Given the description of an element on the screen output the (x, y) to click on. 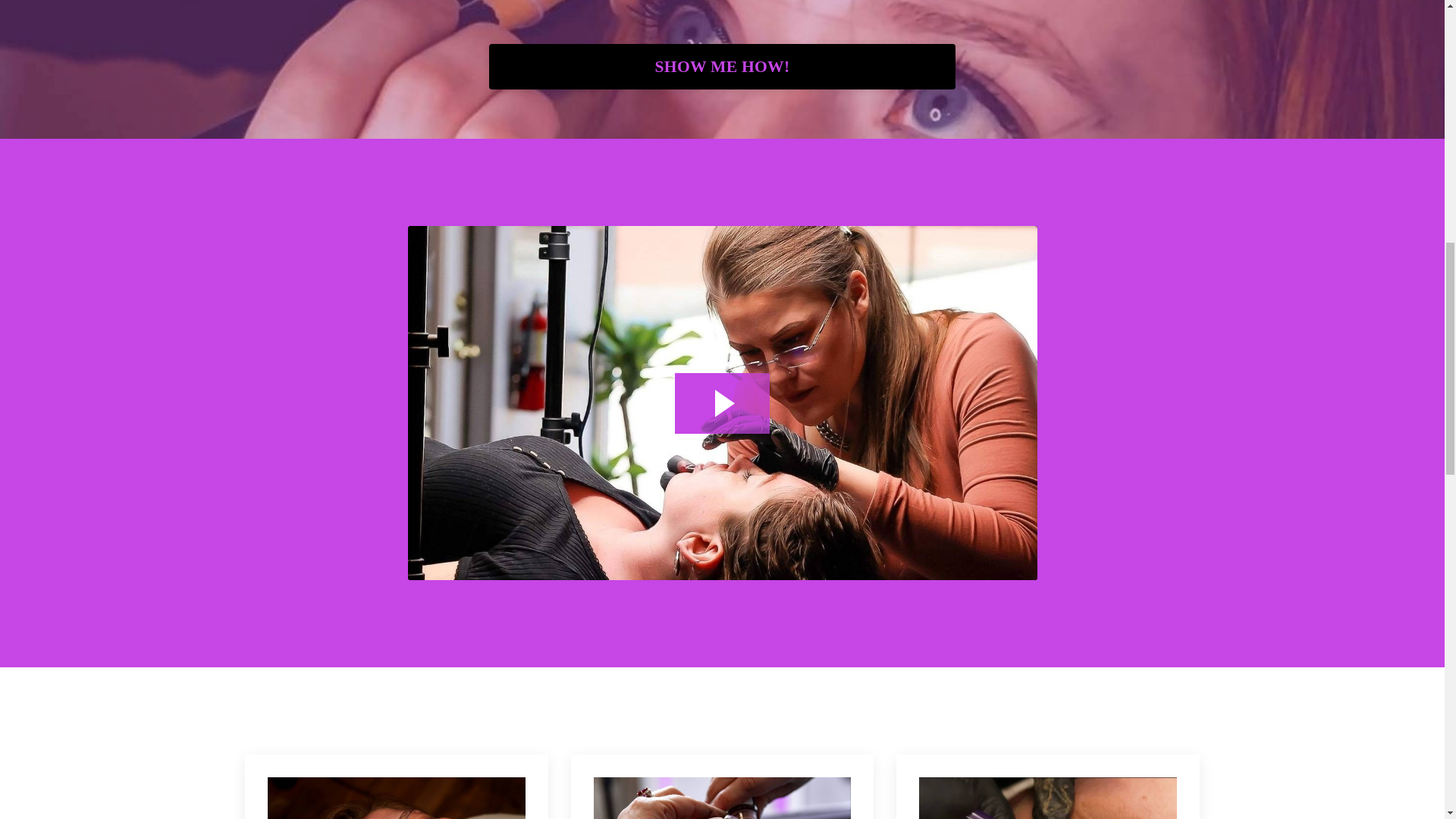
SHOW ME HOW! (722, 66)
